Given the description of an element on the screen output the (x, y) to click on. 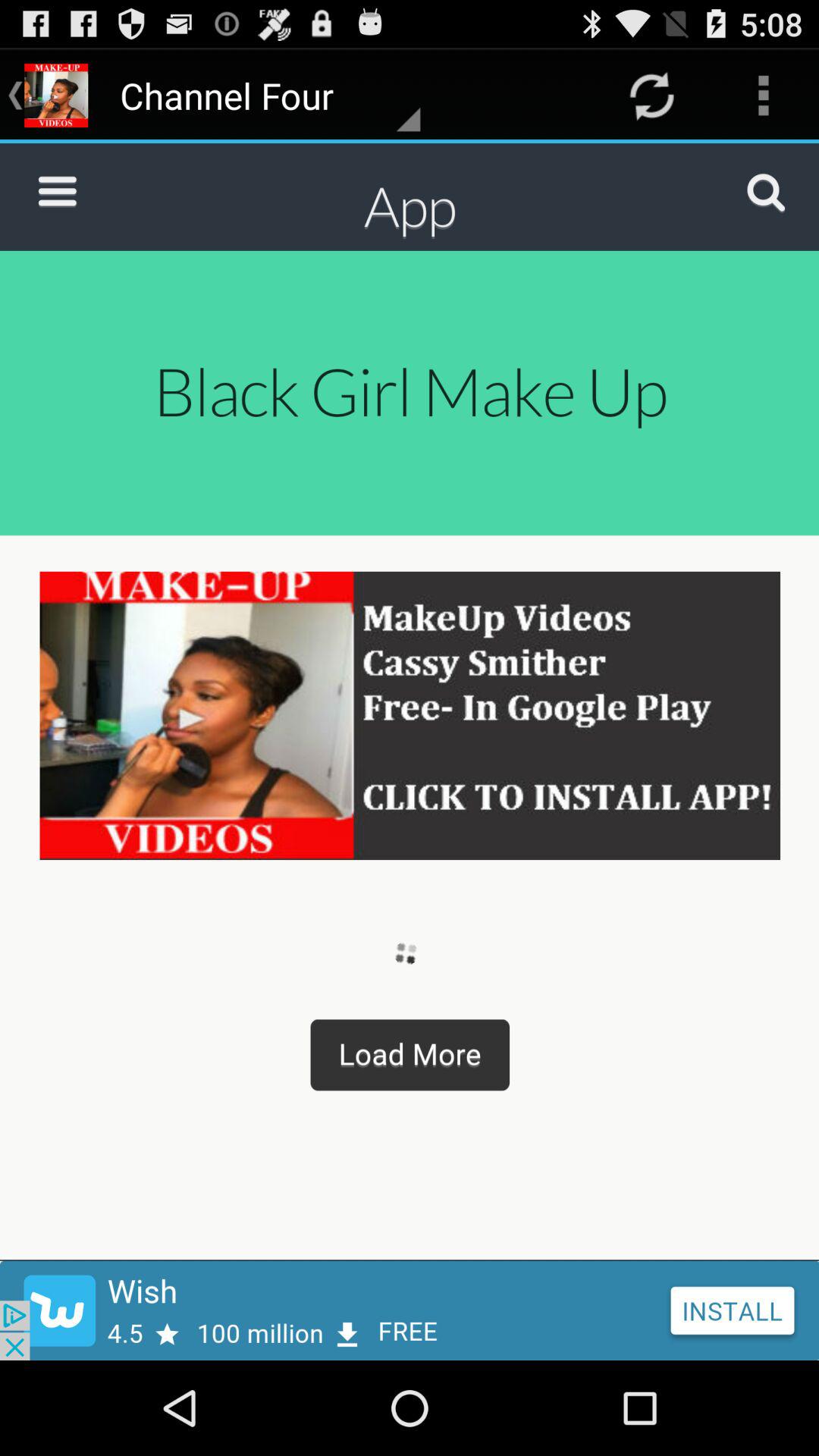
click to install (409, 1310)
